Given the description of an element on the screen output the (x, y) to click on. 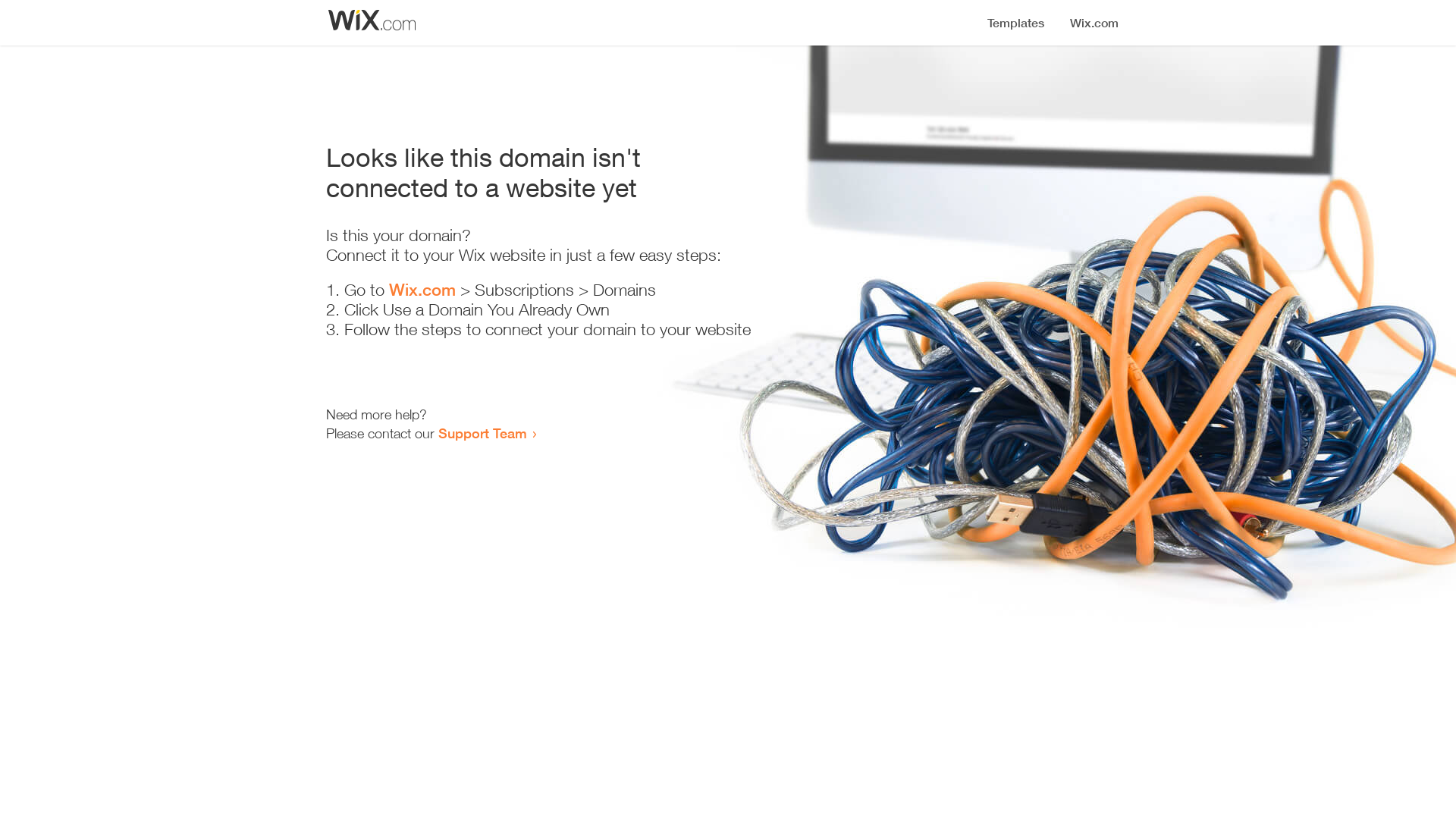
Support Team Element type: text (482, 432)
Wix.com Element type: text (422, 289)
